Given the description of an element on the screen output the (x, y) to click on. 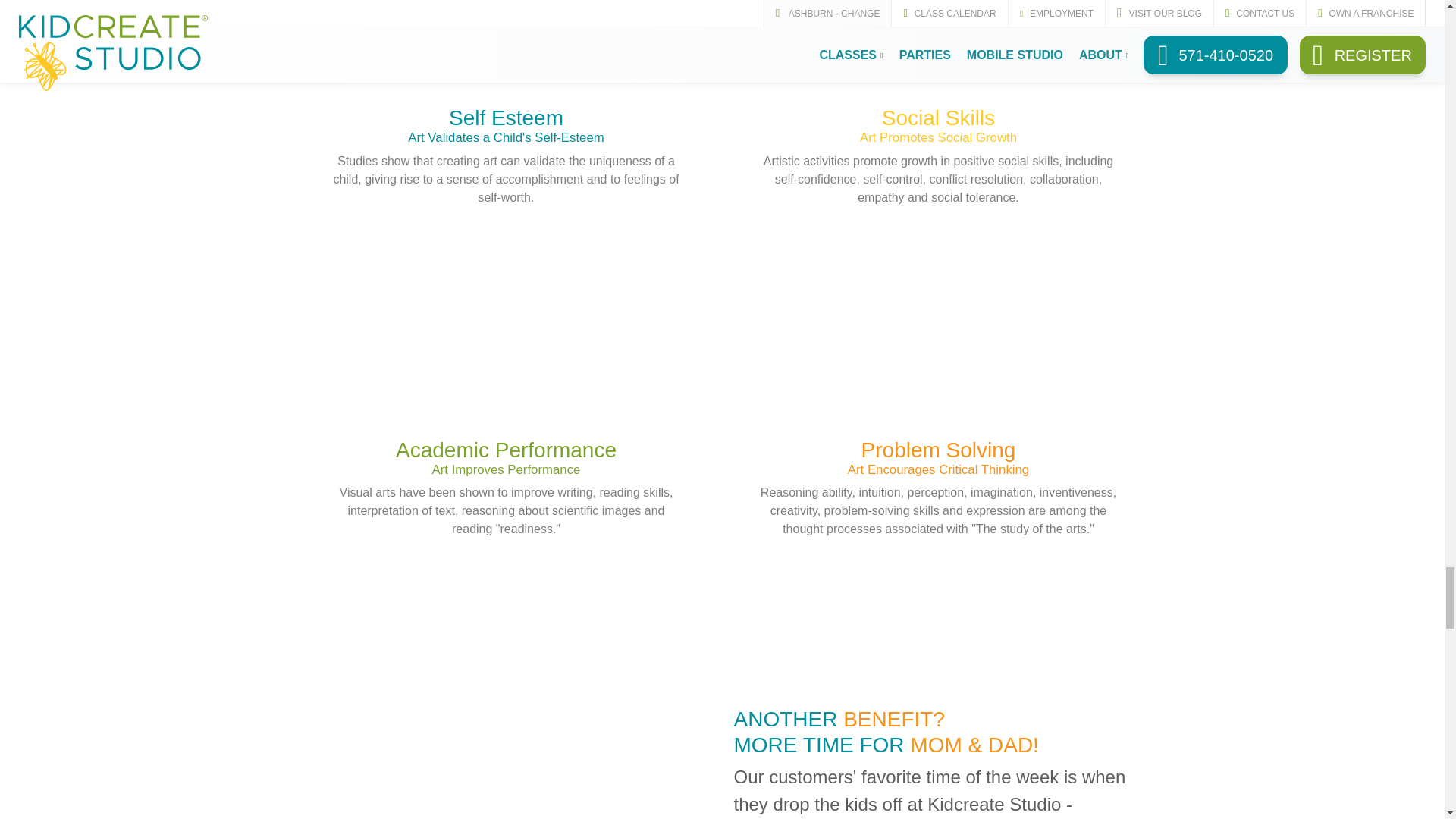
Children's Art Studio (491, 733)
